Given the description of an element on the screen output the (x, y) to click on. 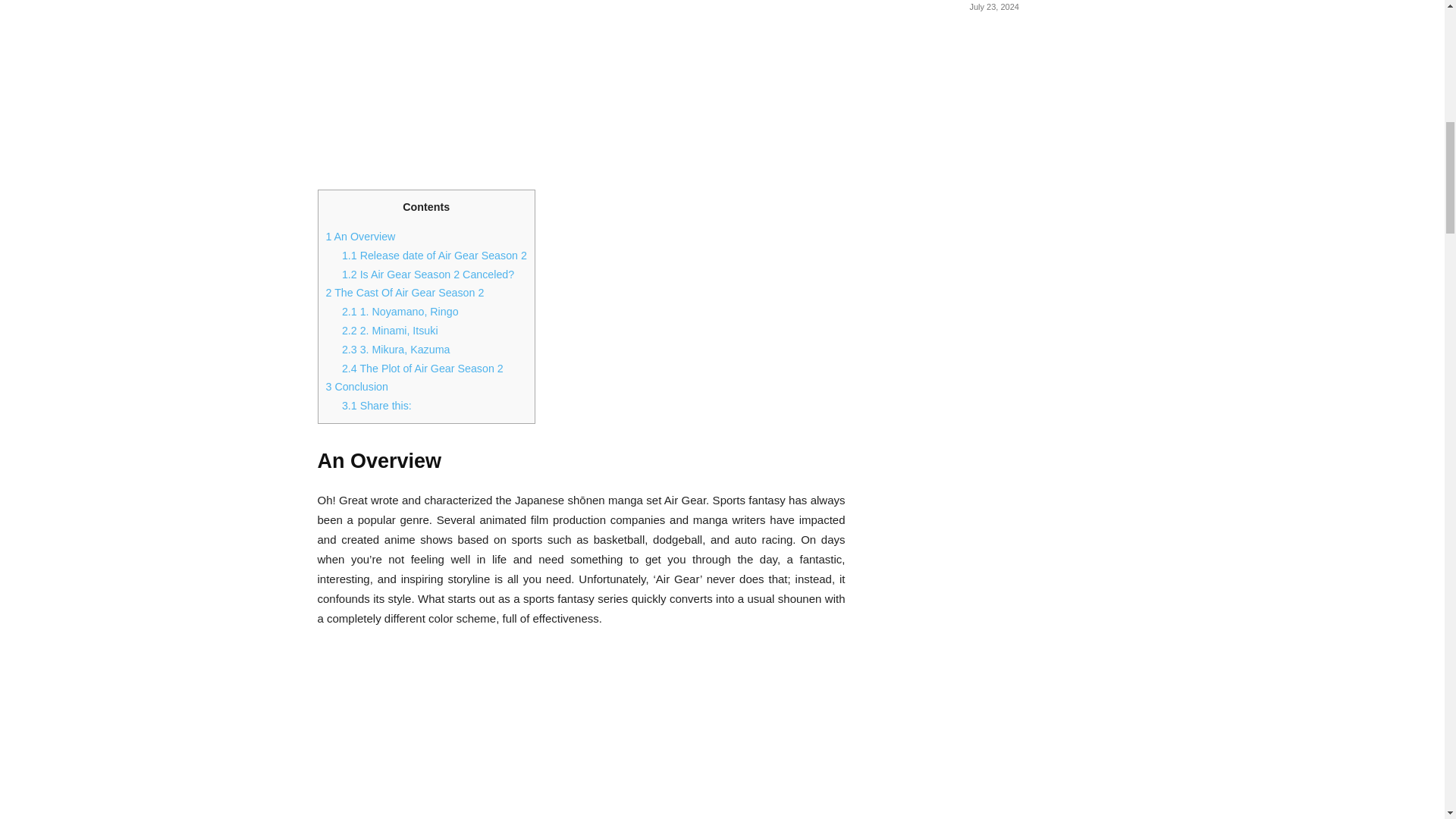
1 An Overview (361, 236)
